Given the description of an element on the screen output the (x, y) to click on. 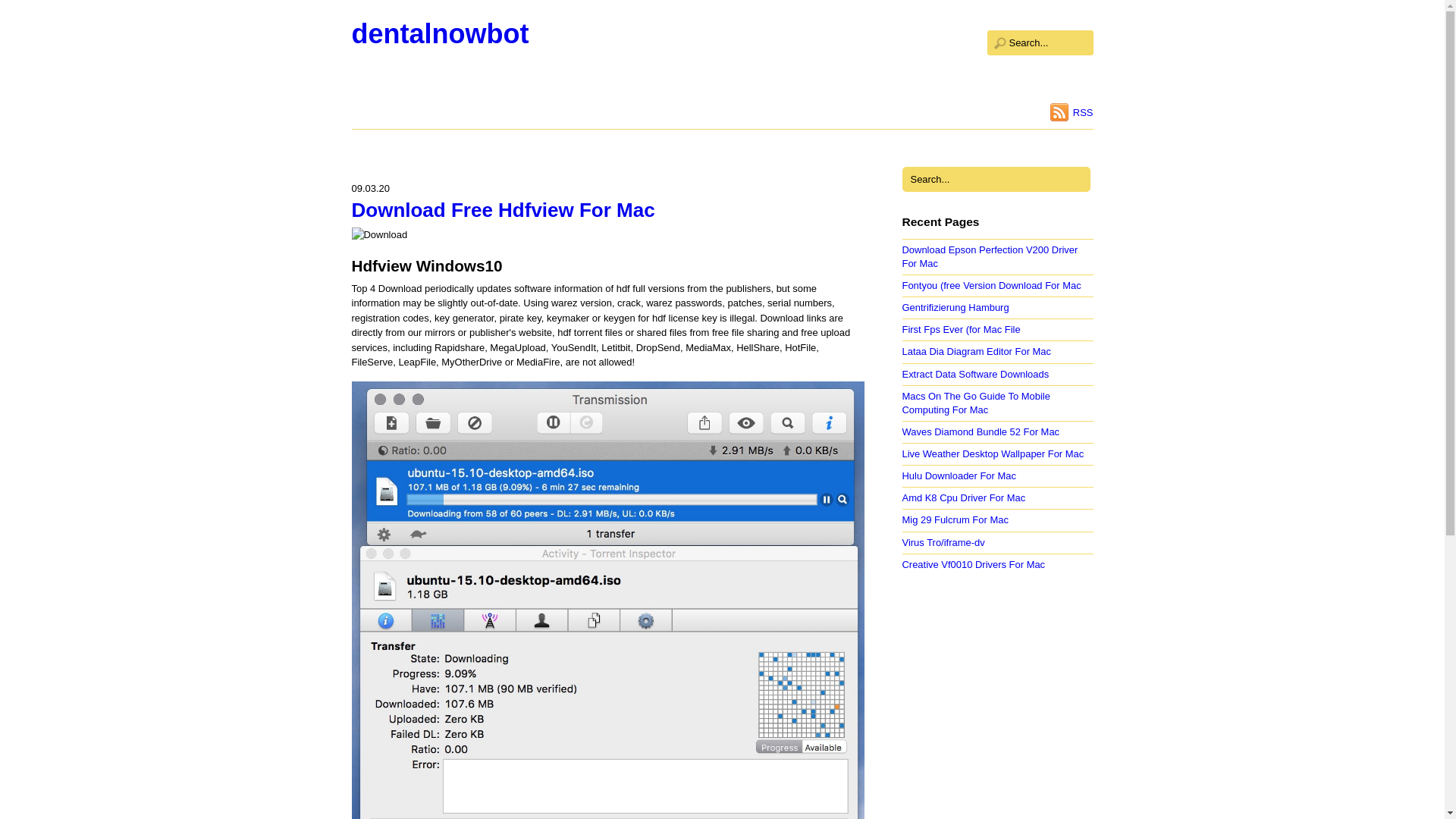
Hulu Downloader For Mac (959, 475)
Waves Diamond Bundle 52 For Mac (980, 431)
Download Free Hdfview For Mac (503, 210)
Search... (1040, 42)
Download Epson Perfection V200 Driver For Mac (990, 256)
Live Weather Desktop Wallpaper For Mac (993, 453)
Gentrifizierung Hamburg (955, 307)
Mig 29 Fulcrum For Mac (955, 519)
Search... (996, 179)
Amd K8 Cpu Driver For Mac (964, 497)
RSS (1071, 112)
Creative Vf0010 Drivers For Mac (973, 564)
Download (379, 234)
Macs On The Go Guide To Mobile Computing For Mac (975, 402)
dentalnowbot (440, 33)
